Given the description of an element on the screen output the (x, y) to click on. 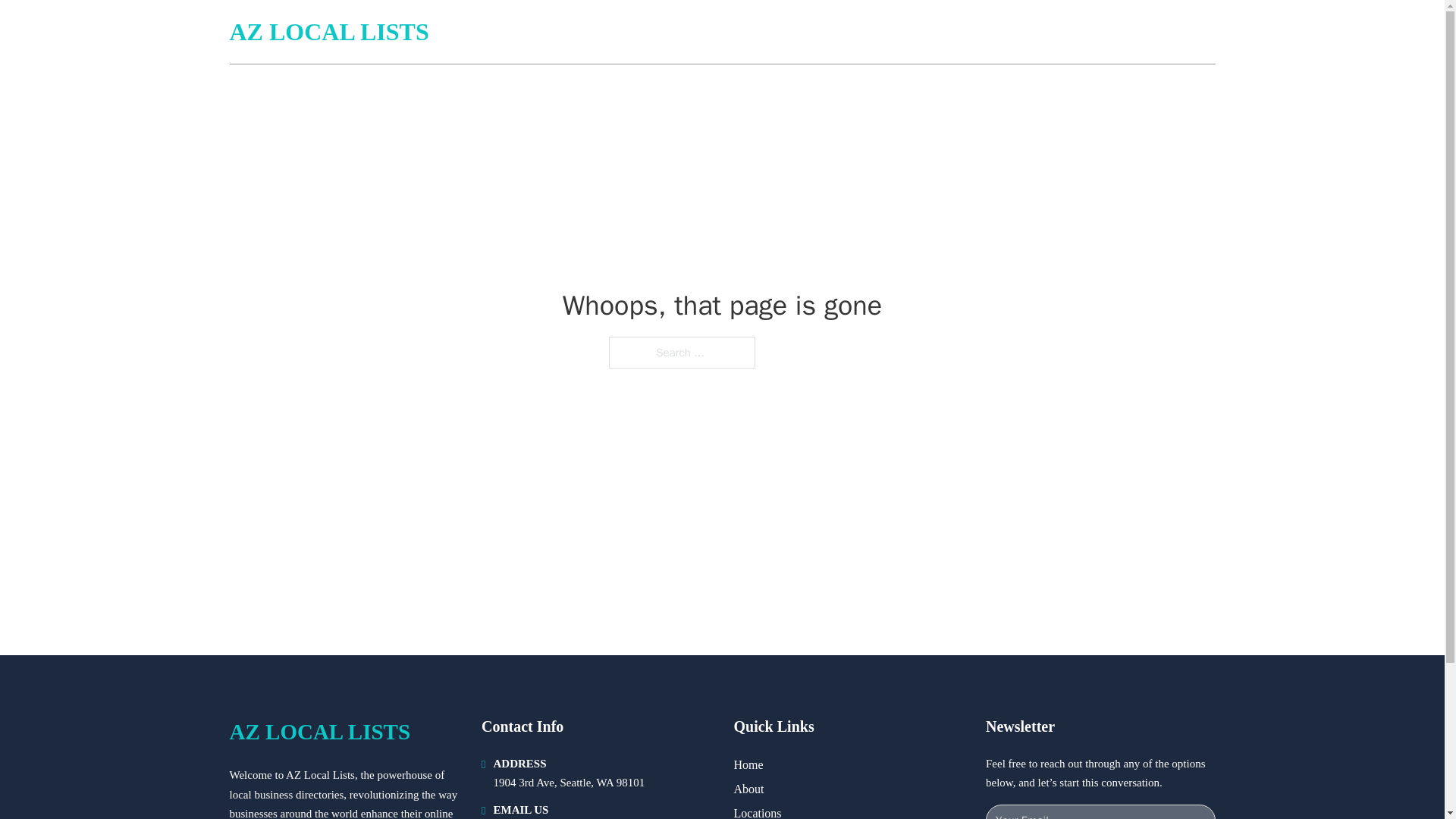
About (748, 788)
HOME (1032, 31)
AZ LOCAL LISTS (319, 732)
AZ LOCAL LISTS (328, 31)
LOCATIONS (1105, 31)
Locations (757, 811)
Home (747, 764)
